Given the description of an element on the screen output the (x, y) to click on. 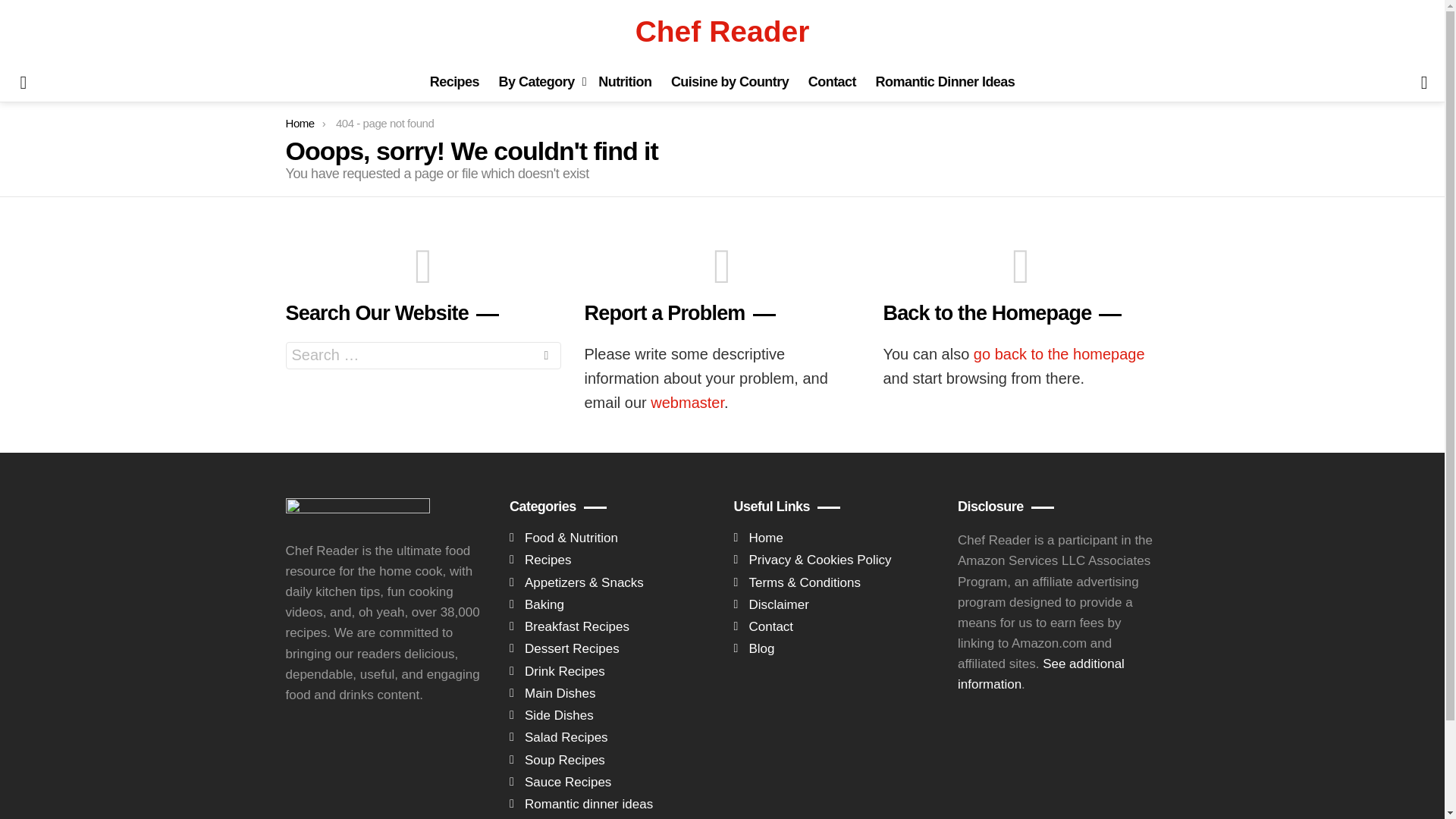
Search (545, 357)
Baking (610, 604)
Drink Recipes (610, 671)
Nutrition (625, 81)
webmaster (686, 402)
Search for: (422, 355)
Soup Recipes (610, 760)
Home (299, 123)
Main Dishes (610, 693)
Chef Reader (721, 31)
